Given the description of an element on the screen output the (x, y) to click on. 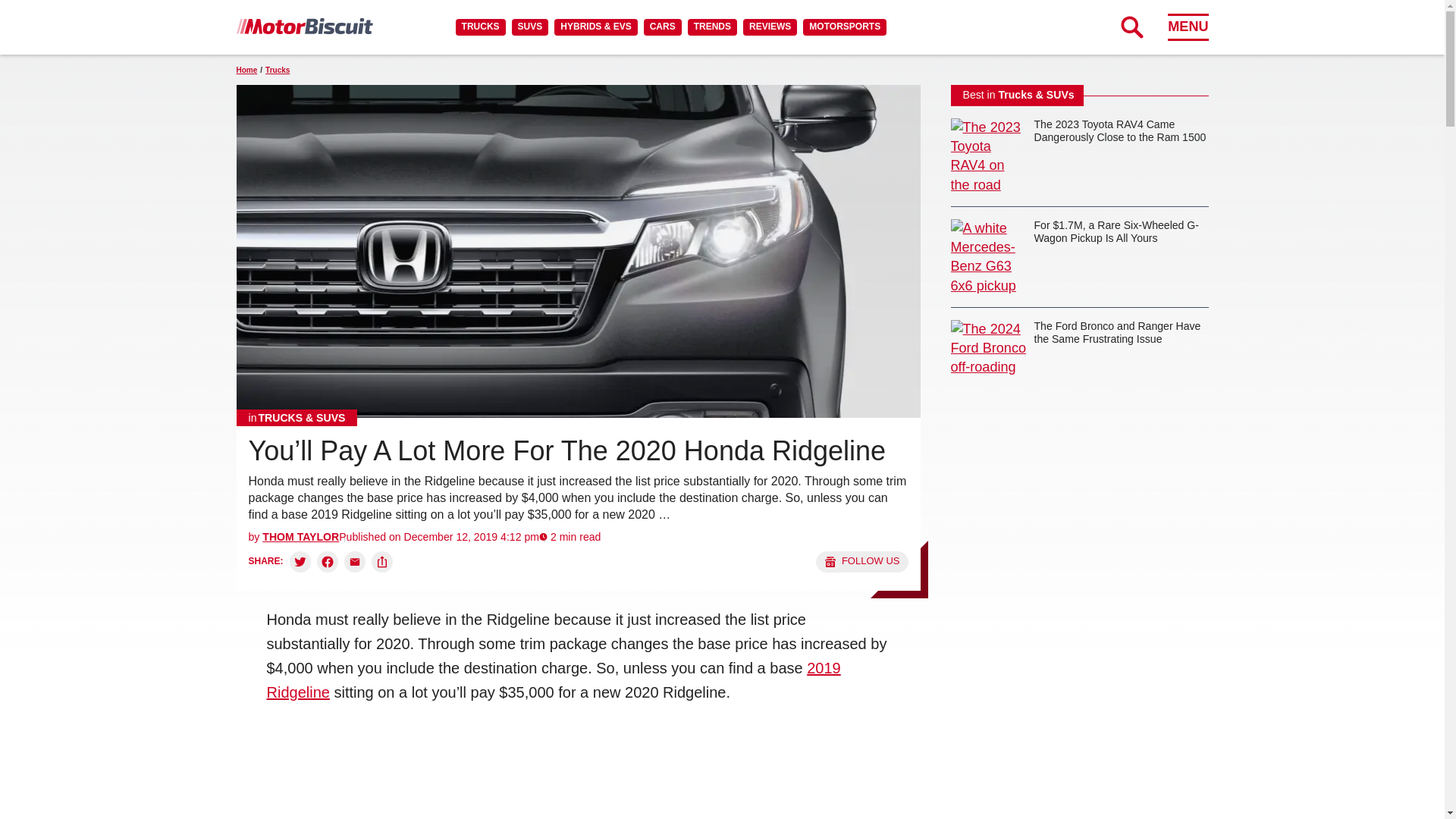
Follow us on Google News (861, 561)
REVIEWS (769, 26)
MENU (1187, 26)
TRUCKS (480, 26)
MotorBiscuit (303, 26)
SUVS (530, 26)
Expand Search (1131, 26)
TRENDS (711, 26)
MOTORSPORTS (844, 26)
Copy link and share:  (382, 561)
CARS (662, 26)
